Given the description of an element on the screen output the (x, y) to click on. 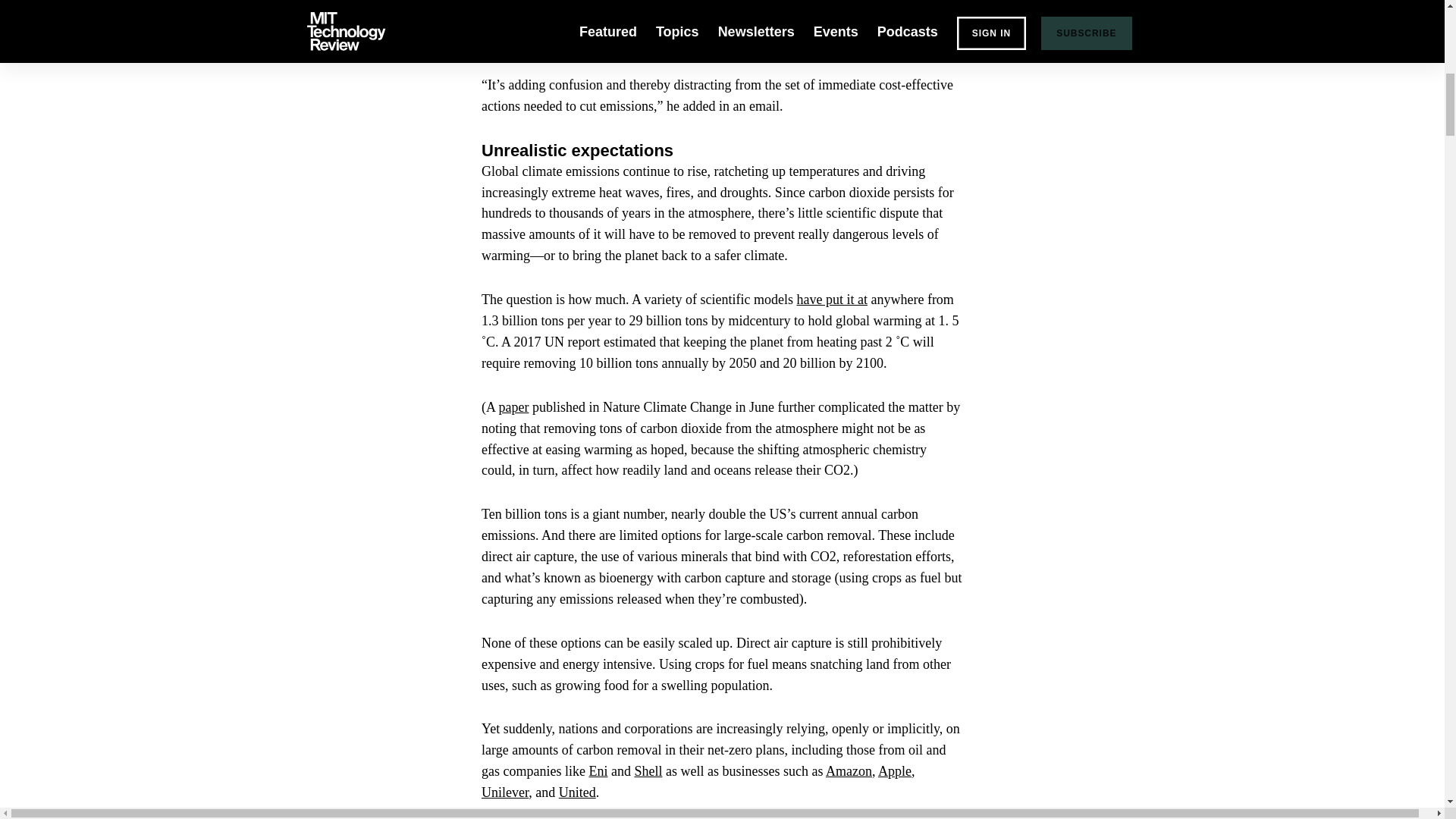
Shell (647, 770)
Unilever (504, 792)
Eni (597, 770)
have put it at (831, 299)
United (577, 792)
Amazon (848, 770)
paper (514, 406)
Apple (894, 770)
